Given the description of an element on the screen output the (x, y) to click on. 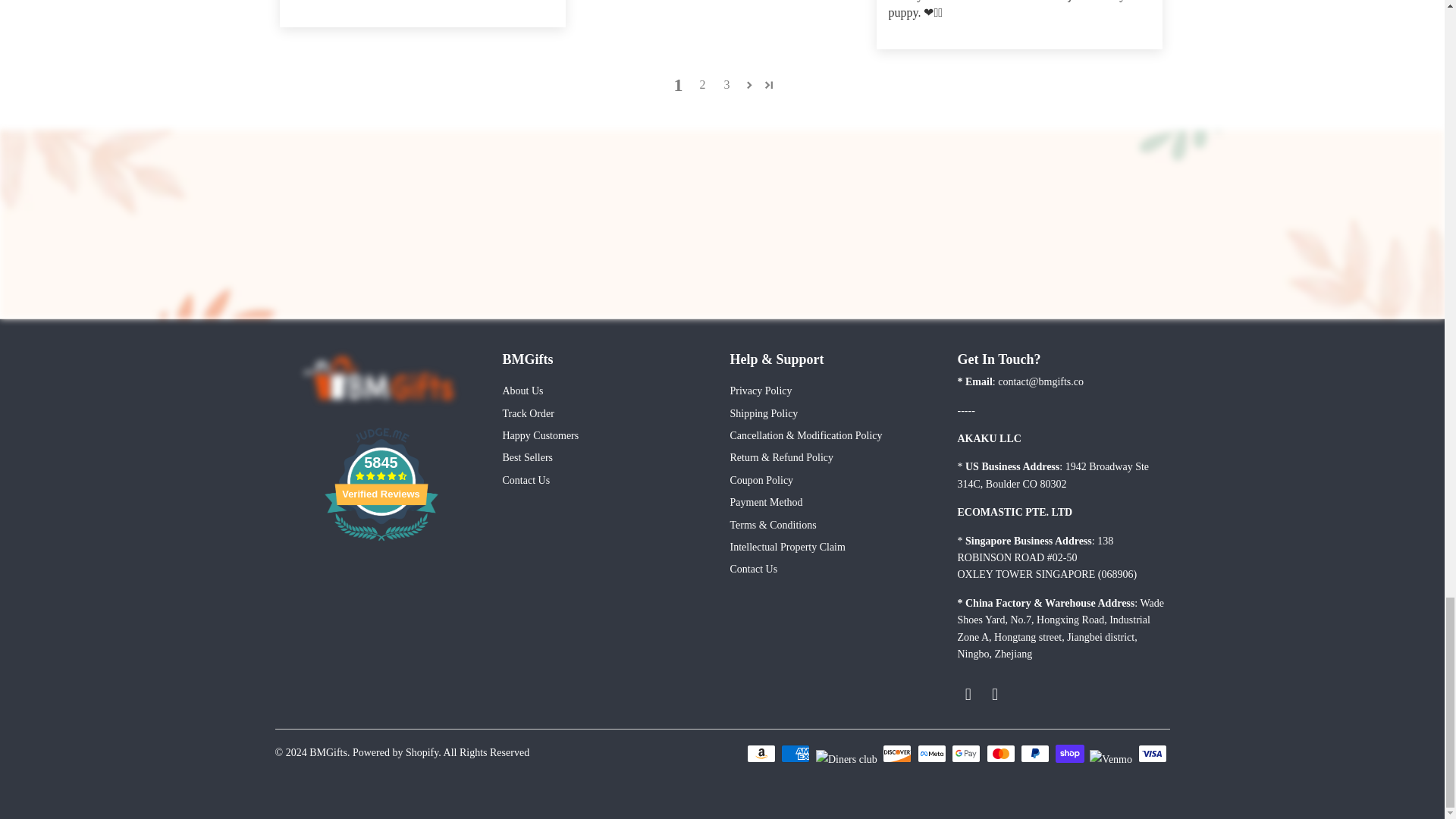
BMGifts on Facebook (967, 694)
BMGifts on Instagram (995, 694)
